Given the description of an element on the screen output the (x, y) to click on. 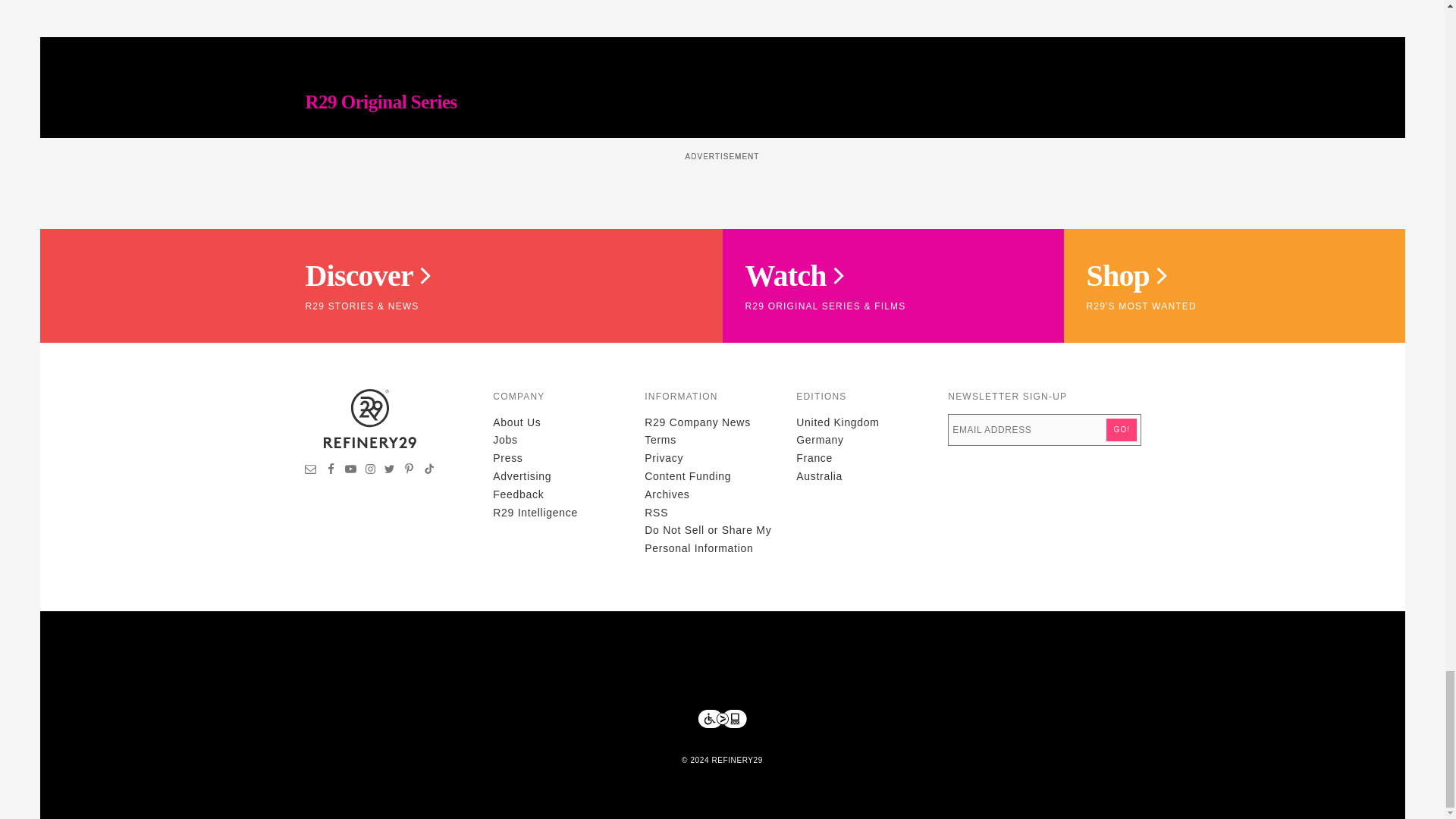
Sign up for newsletters (310, 470)
Visit Refinery29 on TikTok (428, 470)
Visit Refinery29 on YouTube (350, 470)
